Given the description of an element on the screen output the (x, y) to click on. 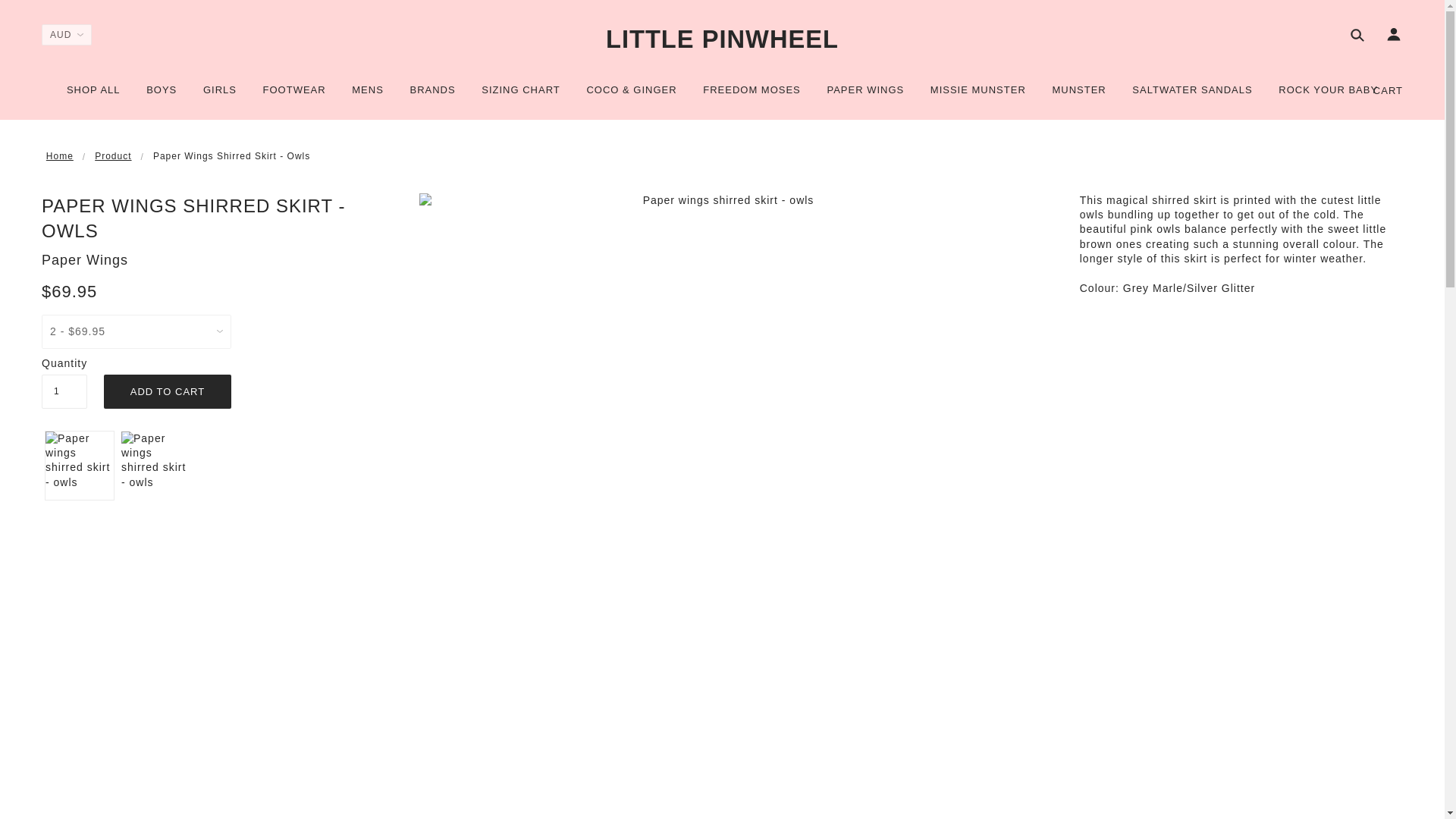
PAPER WINGS (865, 95)
GIRLS (219, 95)
LITTLE PINWHEEL (721, 39)
ROCK YOUR BABY (1327, 95)
FOOTWEAR (294, 95)
SHOP ALL (93, 95)
SIZING CHART (521, 95)
MUNSTER (1078, 95)
BRANDS (431, 95)
Add to Cart (167, 391)
SALTWATER SANDALS (1192, 95)
MENS (367, 95)
FREEDOM MOSES (751, 95)
BOYS (161, 95)
MISSIE MUNSTER (977, 95)
